Given the description of an element on the screen output the (x, y) to click on. 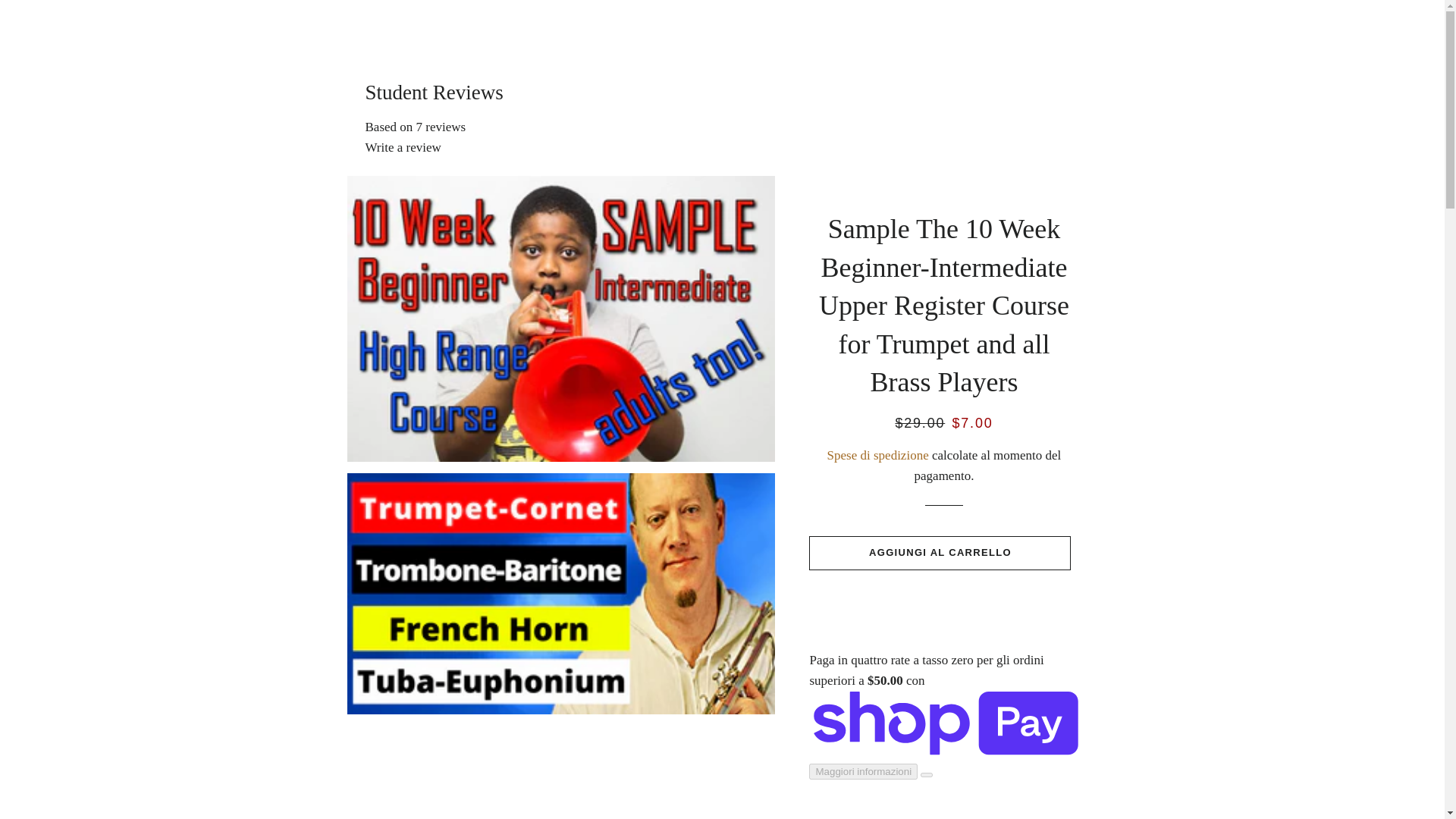
AGGIUNGI AL CARRELLO (939, 552)
Spese di spedizione (877, 454)
Write a review (403, 147)
